Given the description of an element on the screen output the (x, y) to click on. 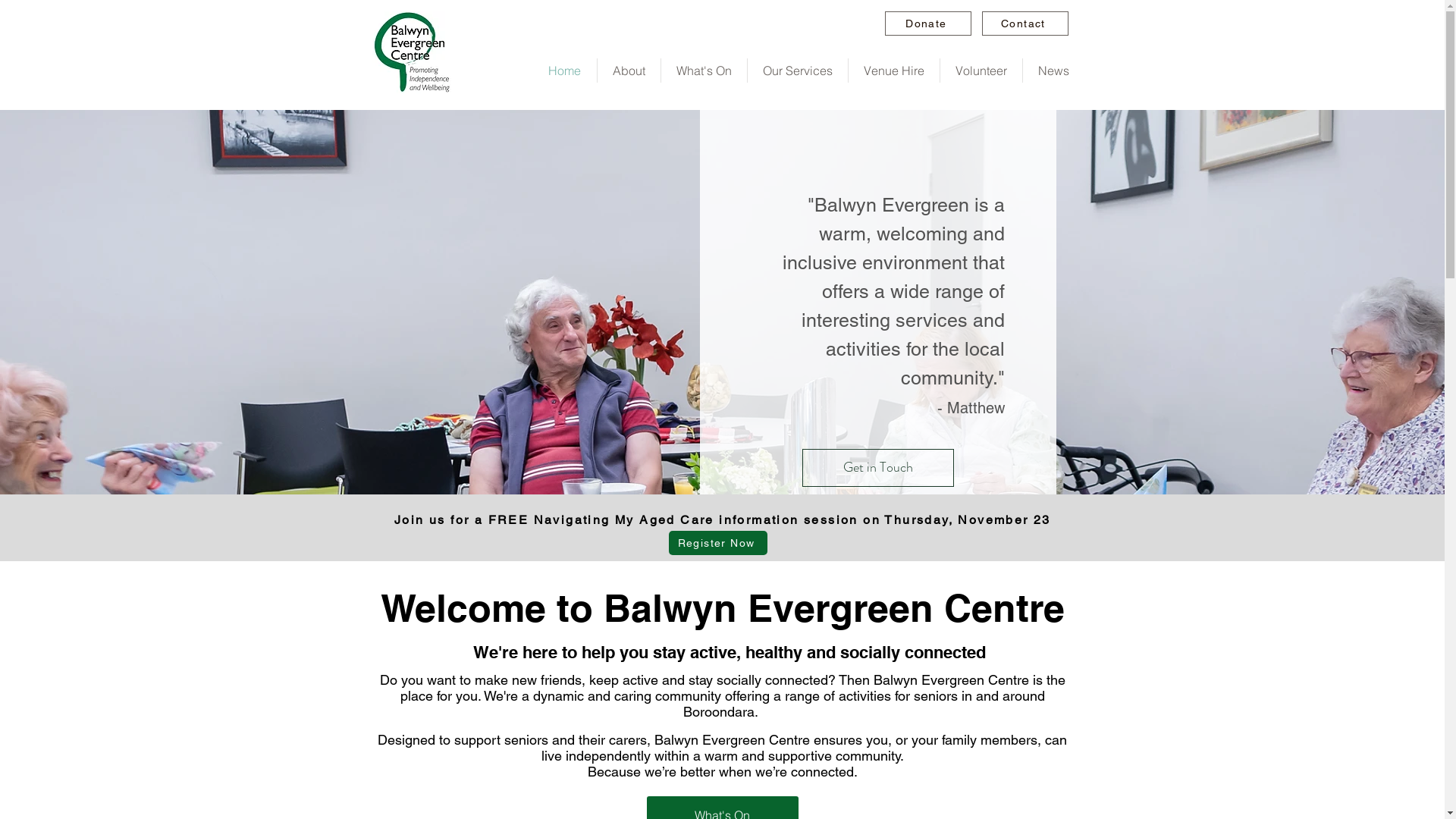
Venue Hire Element type: text (892, 70)
News Element type: text (1052, 70)
Our Services Element type: text (797, 70)
What's On Element type: text (703, 70)
Contact Element type: text (1024, 23)
Home Element type: text (564, 70)
Get in Touch Element type: text (877, 467)
Donate Element type: text (927, 23)
Volunteer Element type: text (981, 70)
Register Now Element type: text (717, 542)
